Given the description of an element on the screen output the (x, y) to click on. 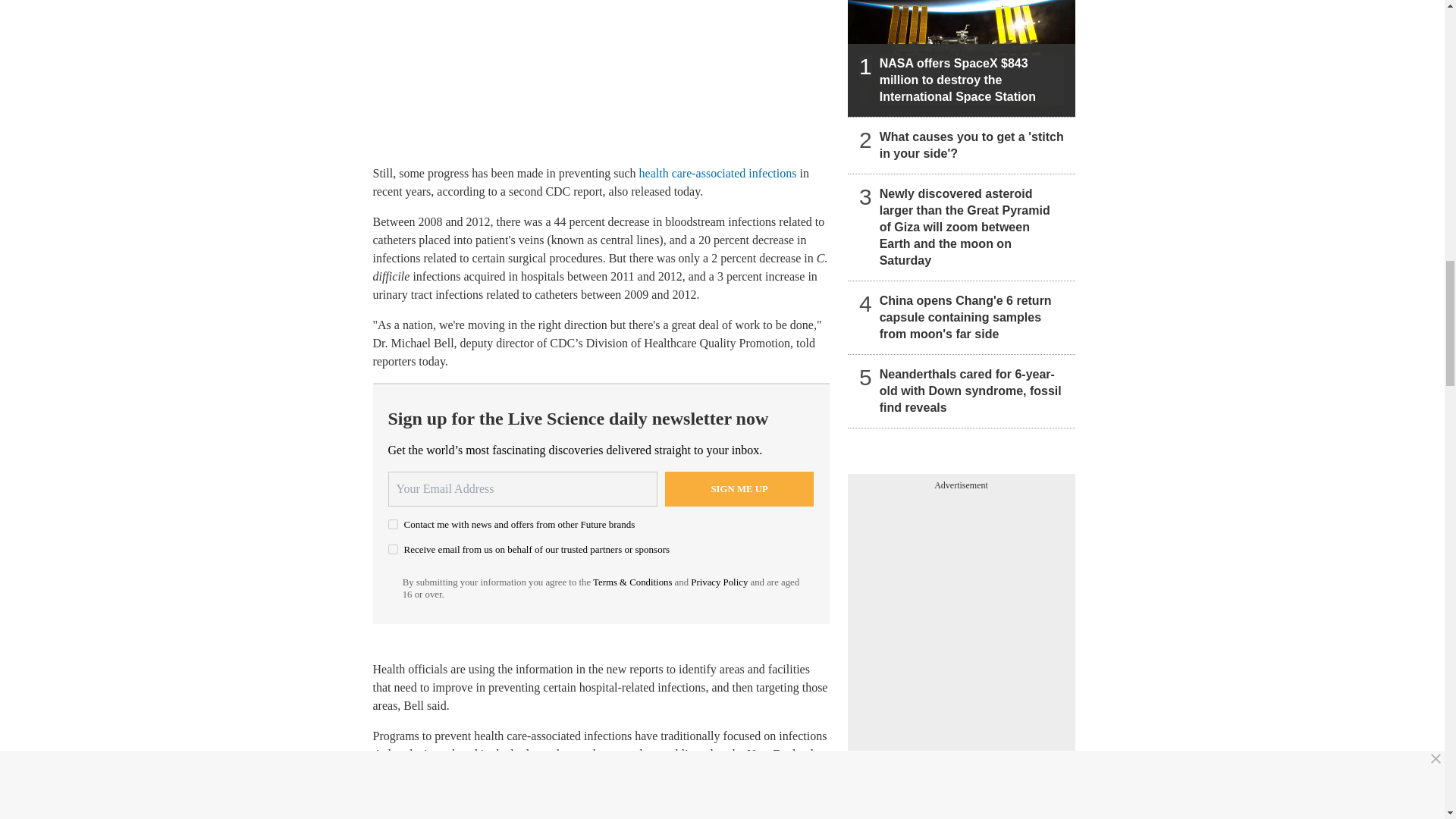
Sign me up (739, 488)
on (392, 549)
on (392, 524)
